Given the description of an element on the screen output the (x, y) to click on. 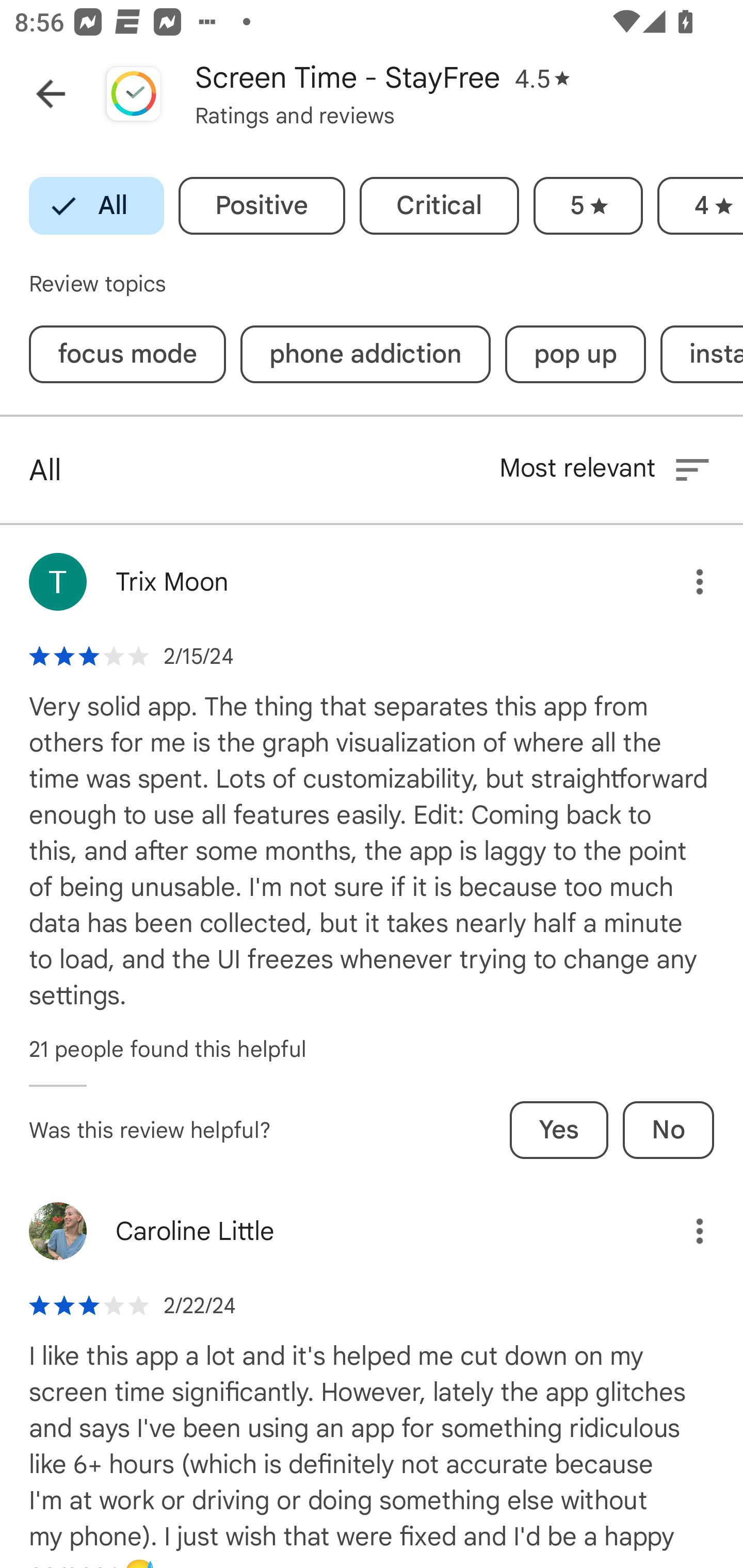
Navigate up (50, 93)
All (96, 206)
Positive (261, 206)
Critical (439, 206)
5 5 Stars (587, 206)
4 4 Stars (700, 206)
focus mode (126, 354)
phone addiction (365, 354)
pop up (575, 354)
Most relevant (606, 469)
Options (685, 581)
Yes (558, 1129)
No (668, 1129)
Options (685, 1231)
